Given the description of an element on the screen output the (x, y) to click on. 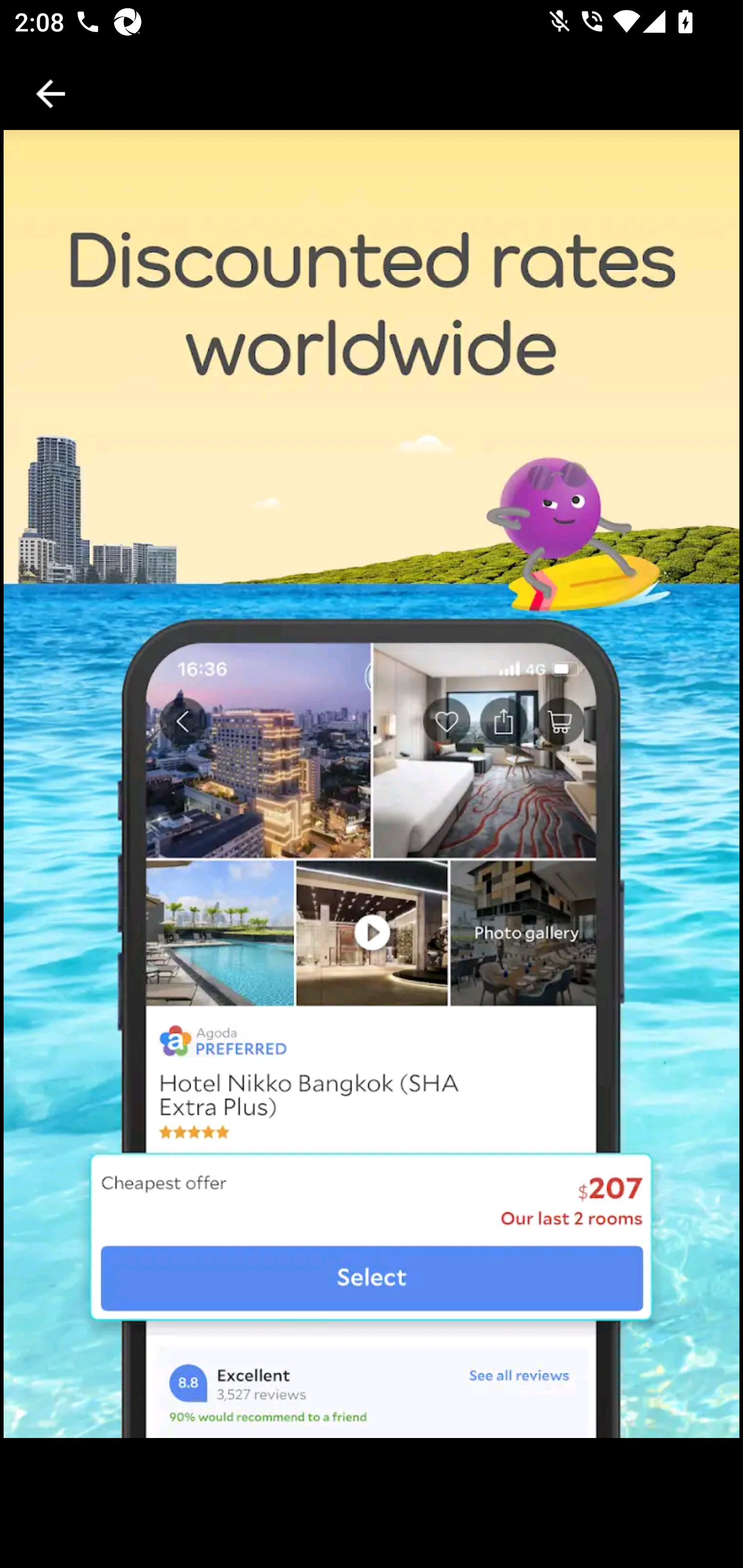
Back (50, 93)
